Given the description of an element on the screen output the (x, y) to click on. 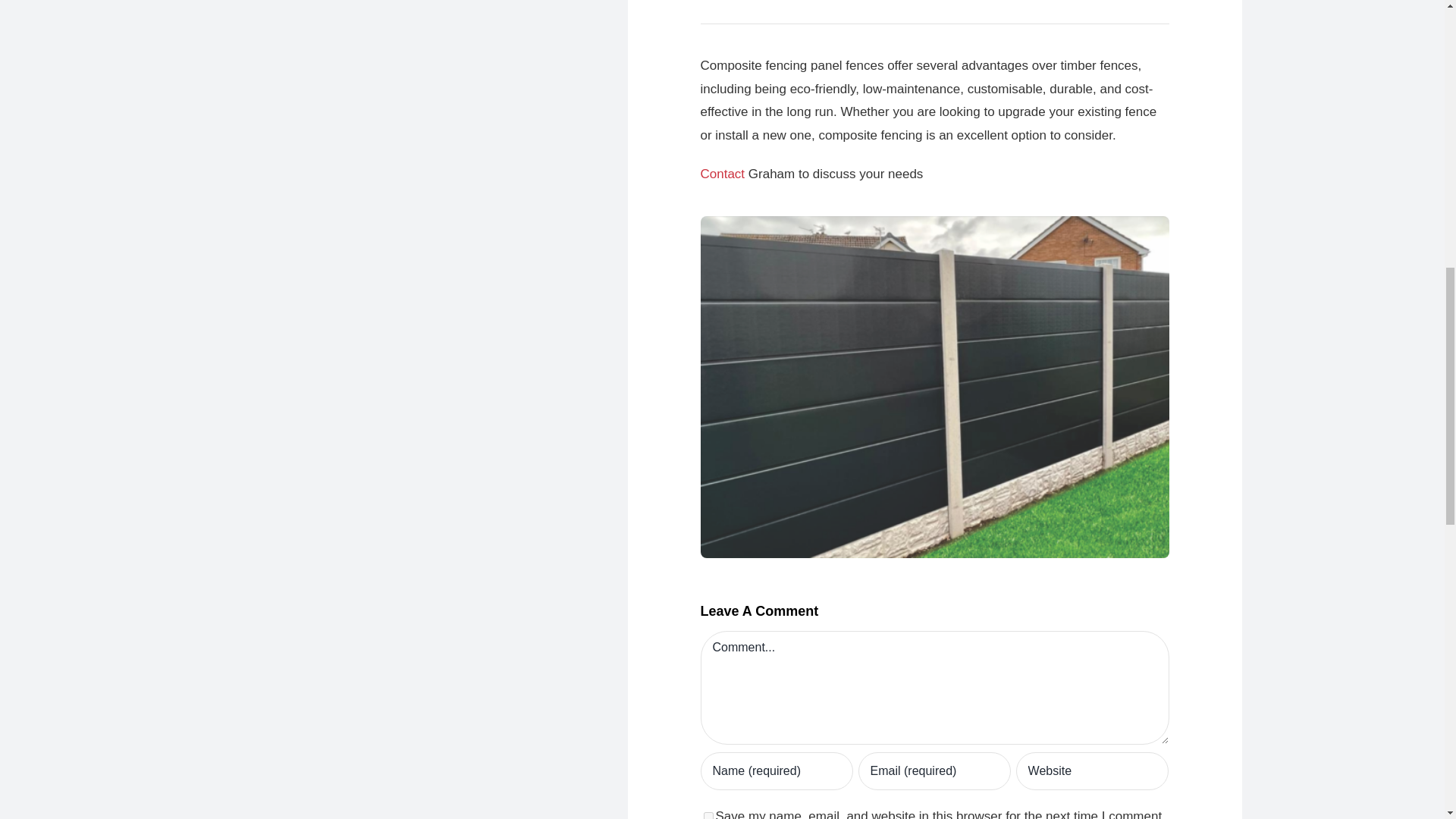
yes (708, 815)
Contact (722, 173)
